Given the description of an element on the screen output the (x, y) to click on. 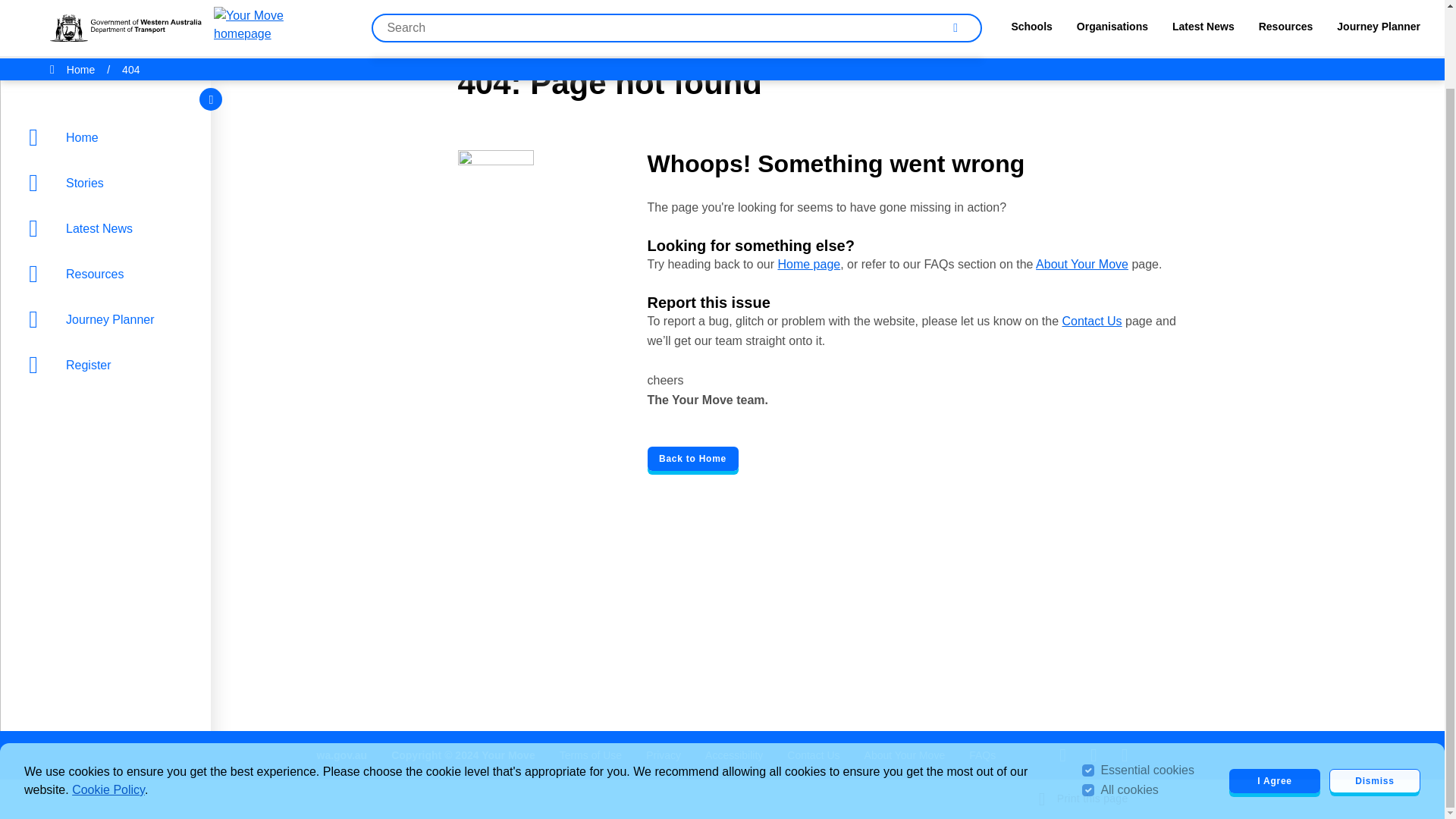
Latest News (109, 139)
About Your Move (904, 755)
Stories (109, 94)
Contact Us (813, 755)
Accessibility (733, 755)
Home (109, 48)
FAQs (982, 755)
Stories (109, 94)
Resources (109, 185)
Journey Planner (109, 231)
